Given the description of an element on the screen output the (x, y) to click on. 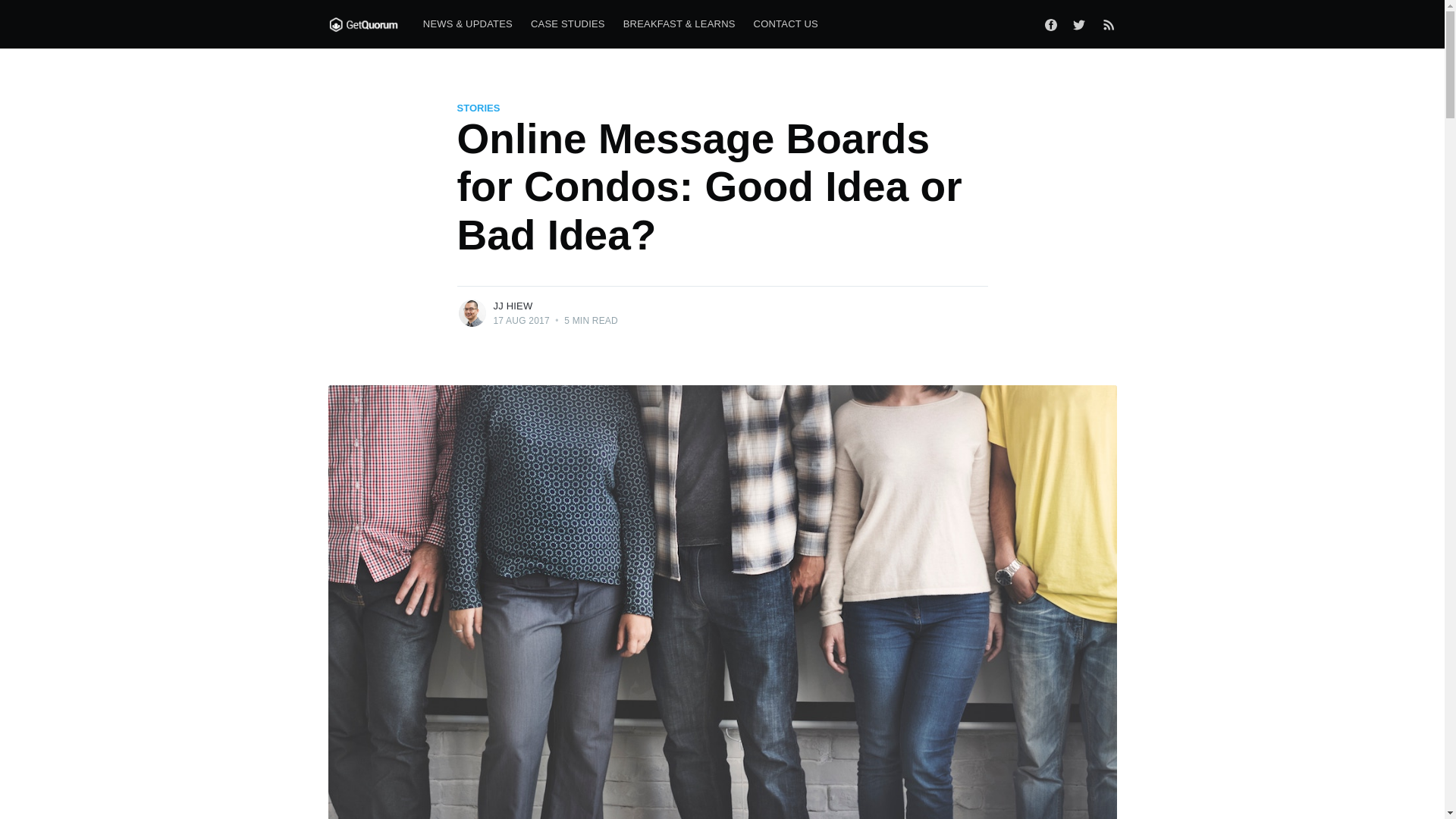
Twitter (1082, 23)
STORIES (478, 108)
CASE STUDIES (567, 24)
JJ HIEW (512, 306)
CONTACT US (785, 24)
